Given the description of an element on the screen output the (x, y) to click on. 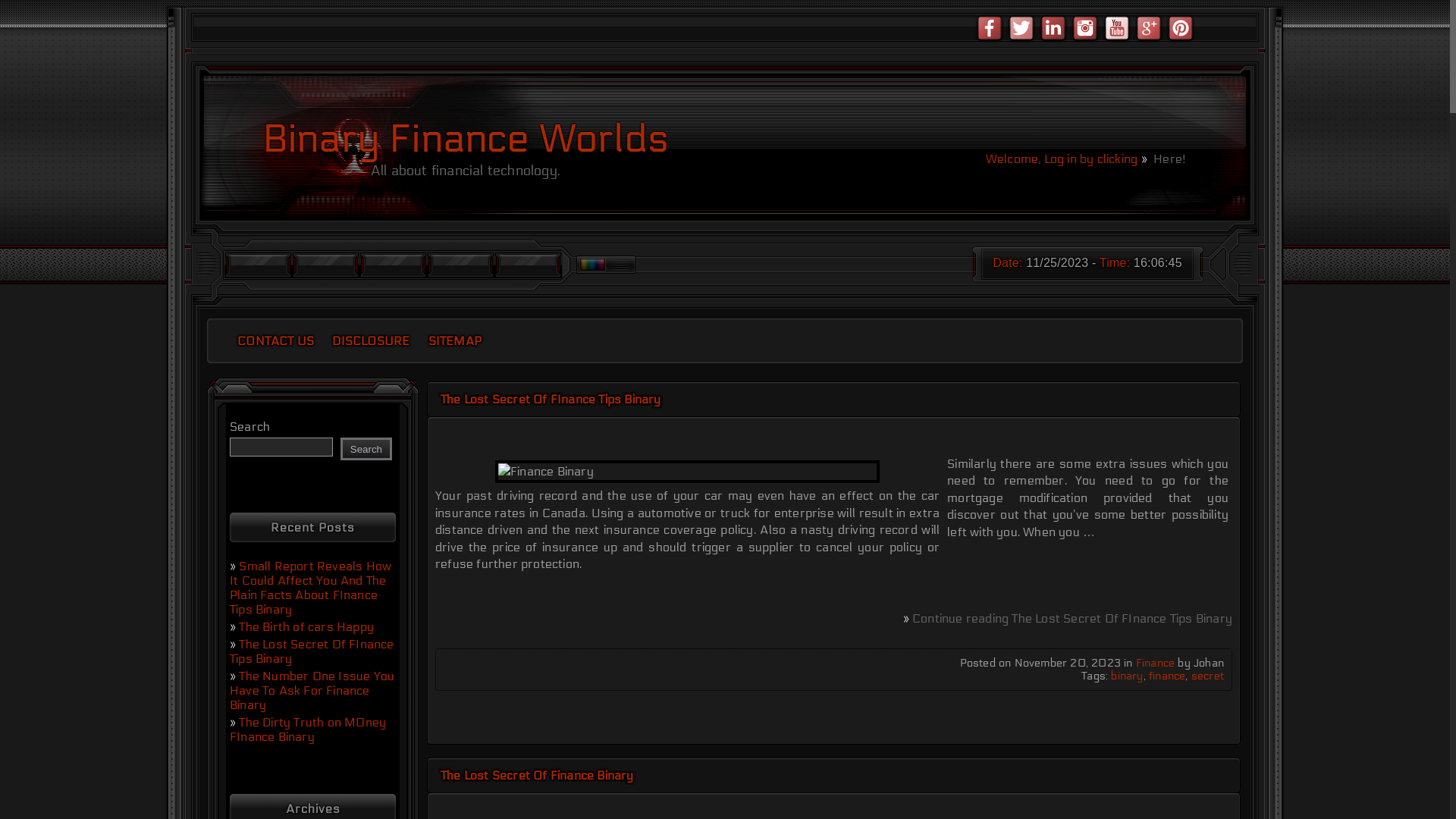
Continue reading The Lost Secret Of FInance Tips Binary Element type: text (1072, 618)
The Lost Secret Of FInance Tips Binary Element type: text (550, 399)
Finance Element type: text (1154, 662)
The Lost Secret Of FInance Tips Binary Element type: text (311, 651)
The Number One Issue You Have To Ask For Finance Binary Element type: text (311, 690)
SITEMAP Element type: text (454, 340)
Search Element type: text (366, 448)
finance Element type: text (1166, 675)
The Dirty Truth on MOney FInance Binary Element type: text (307, 729)
CONTACT US Element type: text (275, 340)
binary Element type: text (1126, 675)
The Birth of cars Happy Element type: text (305, 626)
secret Element type: text (1207, 675)
 Here! Element type: text (1163, 158)
The Lost Secret Of Finance Binary Element type: text (536, 775)
DISCLOSURE Element type: text (370, 340)
Binary Finance Worlds
All about financial technology. Element type: text (465, 146)
